Given the description of an element on the screen output the (x, y) to click on. 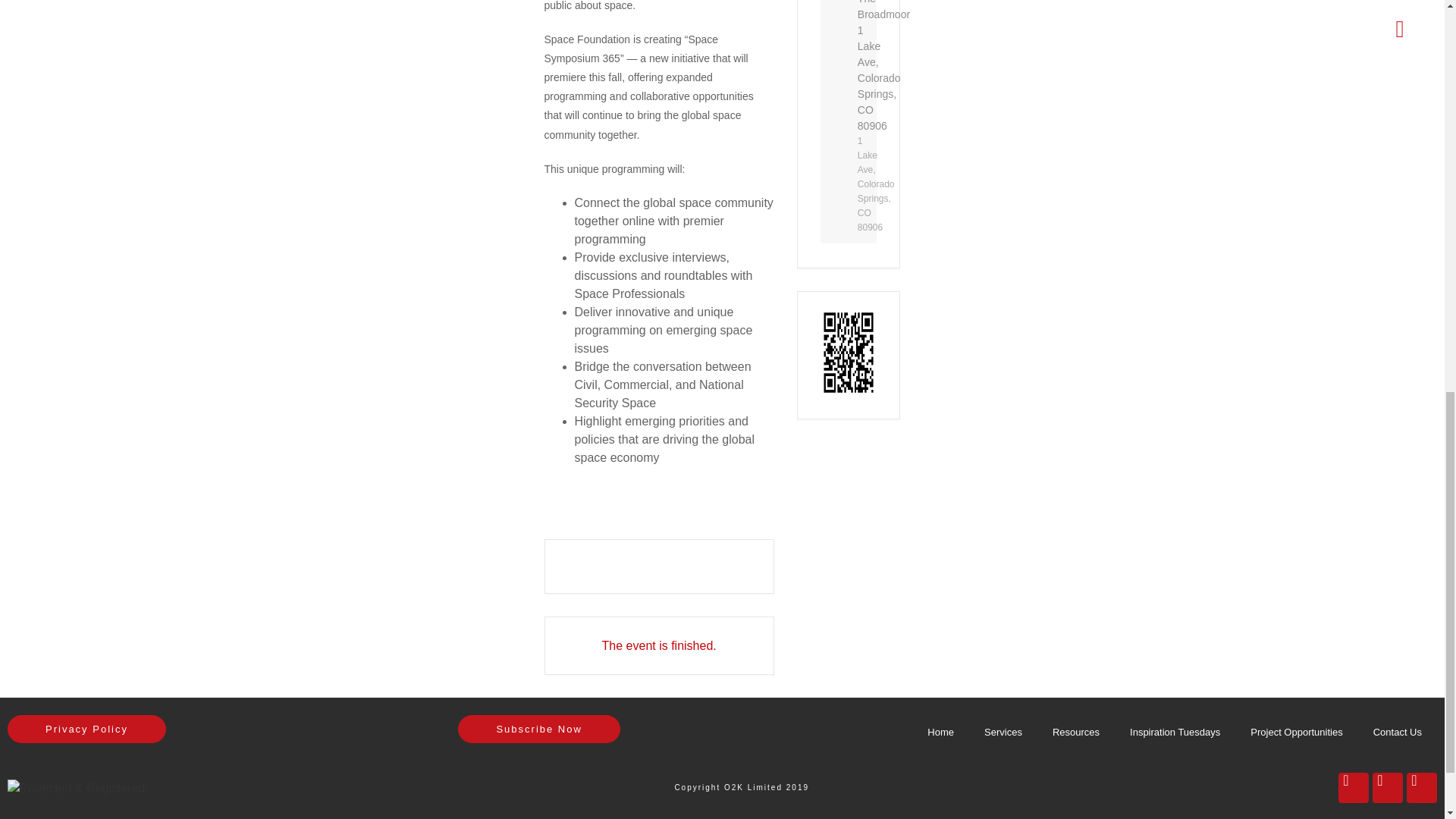
Inspiration Tuesdays (1174, 732)
Resources (1075, 732)
Project Opportunities (1295, 732)
Subscribe Now (539, 728)
Home (940, 732)
Contact Us (1397, 732)
Privacy Policy (86, 728)
Services (1002, 732)
